Given the description of an element on the screen output the (x, y) to click on. 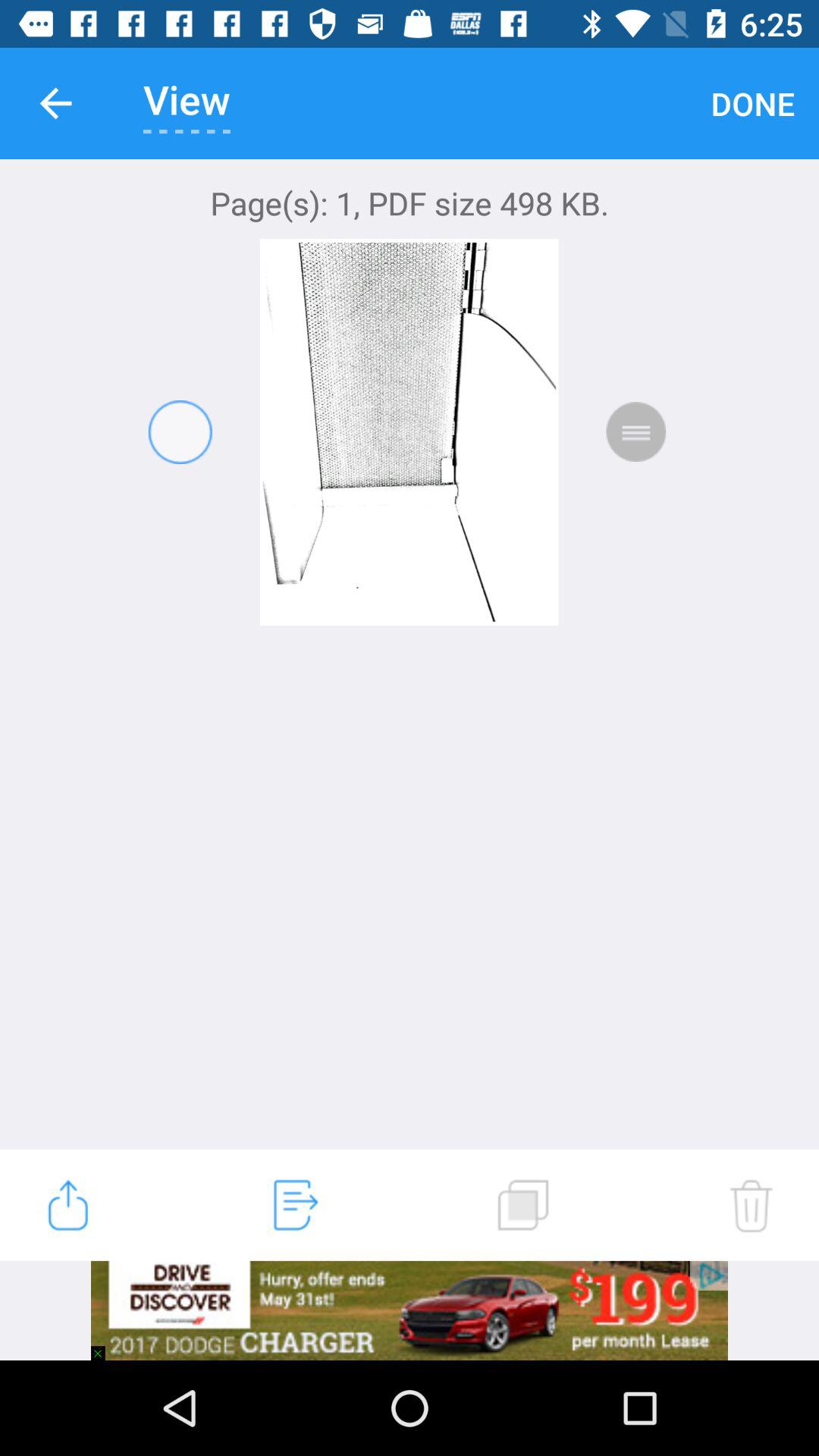
swipe until the done item (753, 103)
